Given the description of an element on the screen output the (x, y) to click on. 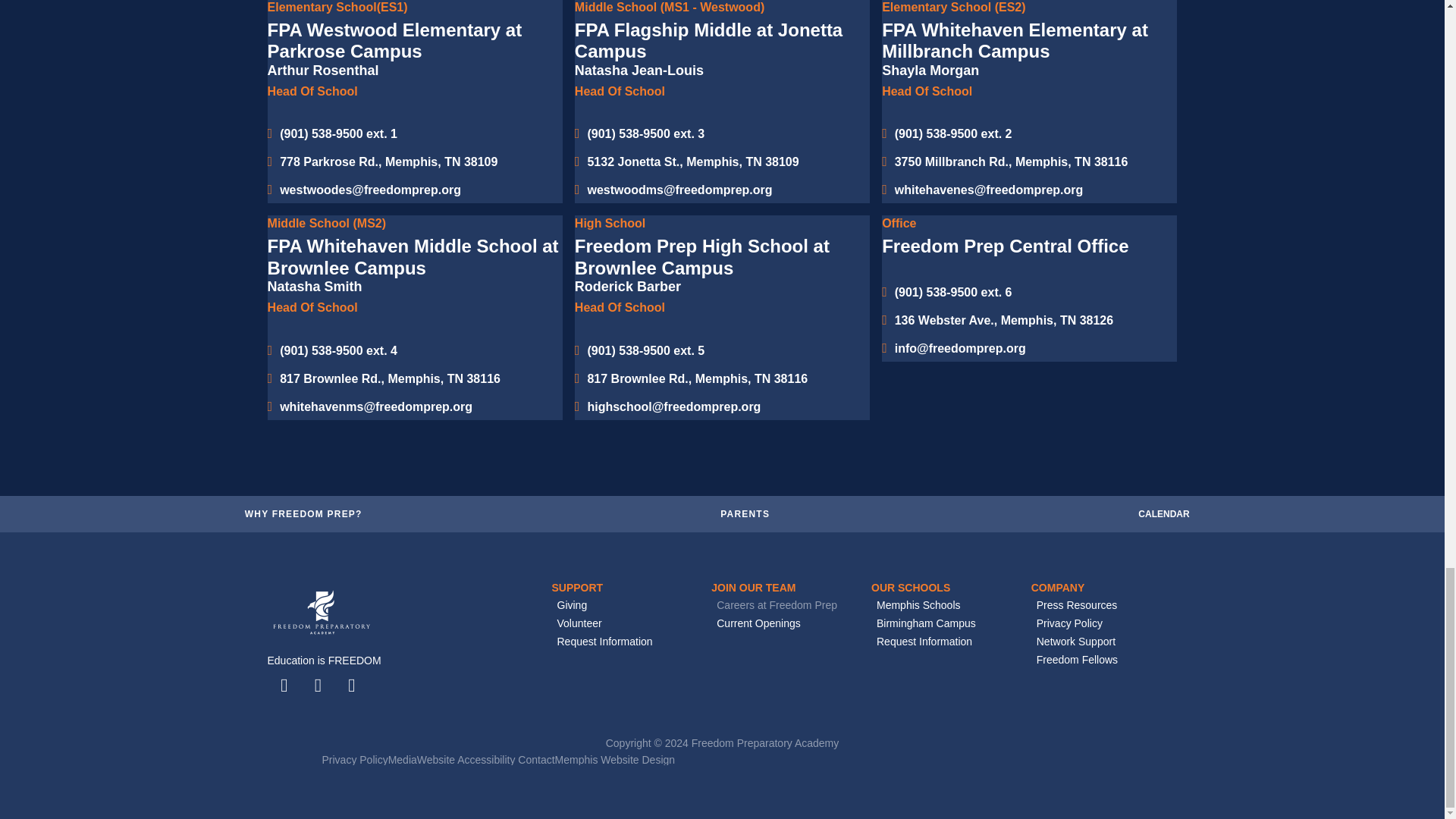
Careers at Freedom Prep (784, 605)
Volunteer (624, 624)
Request Information (624, 642)
Giving (624, 605)
Current Openings (784, 624)
CALENDAR (1164, 512)
Memphis Schools (943, 605)
